Given the description of an element on the screen output the (x, y) to click on. 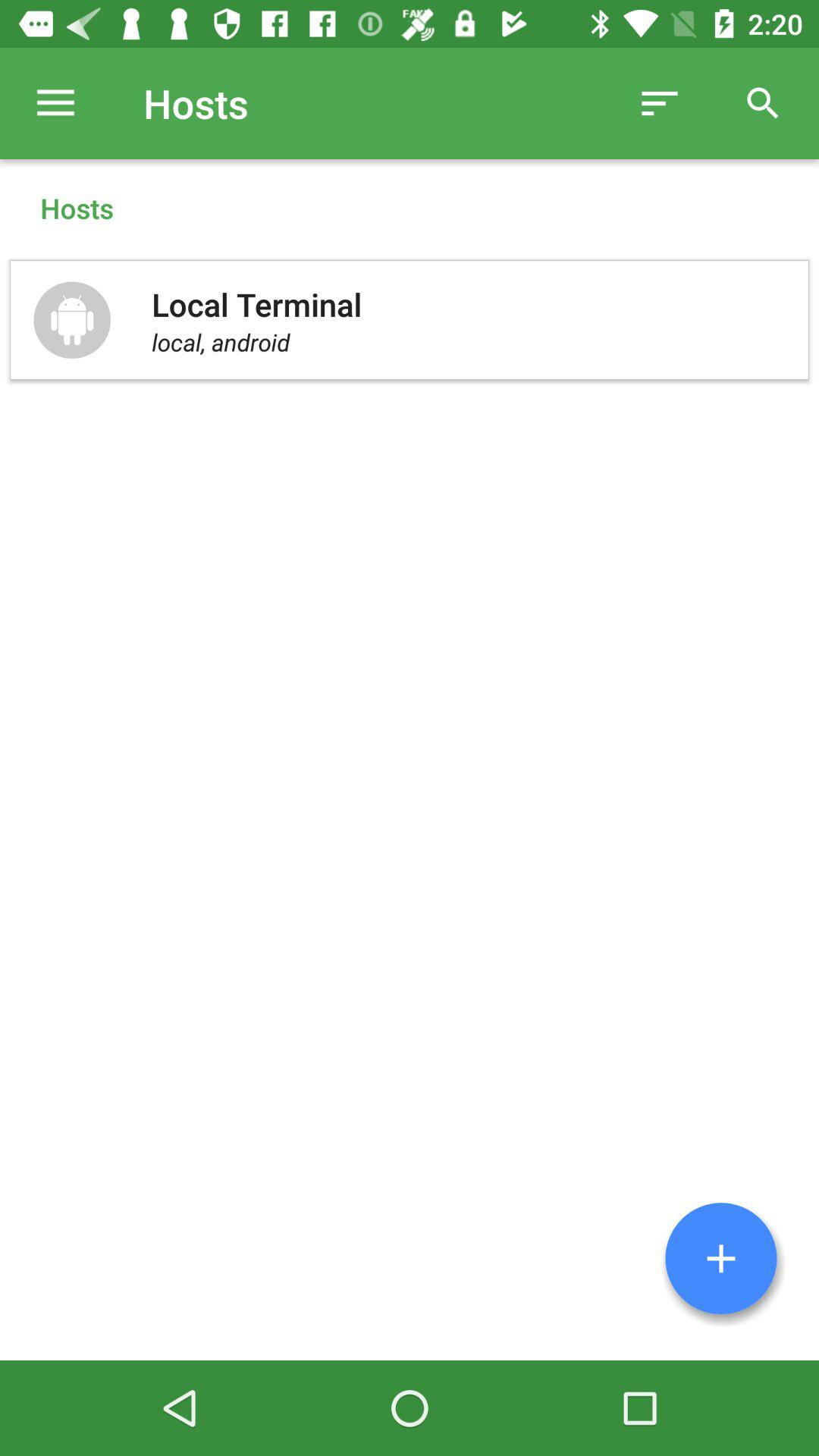
add host (721, 1258)
